Given the description of an element on the screen output the (x, y) to click on. 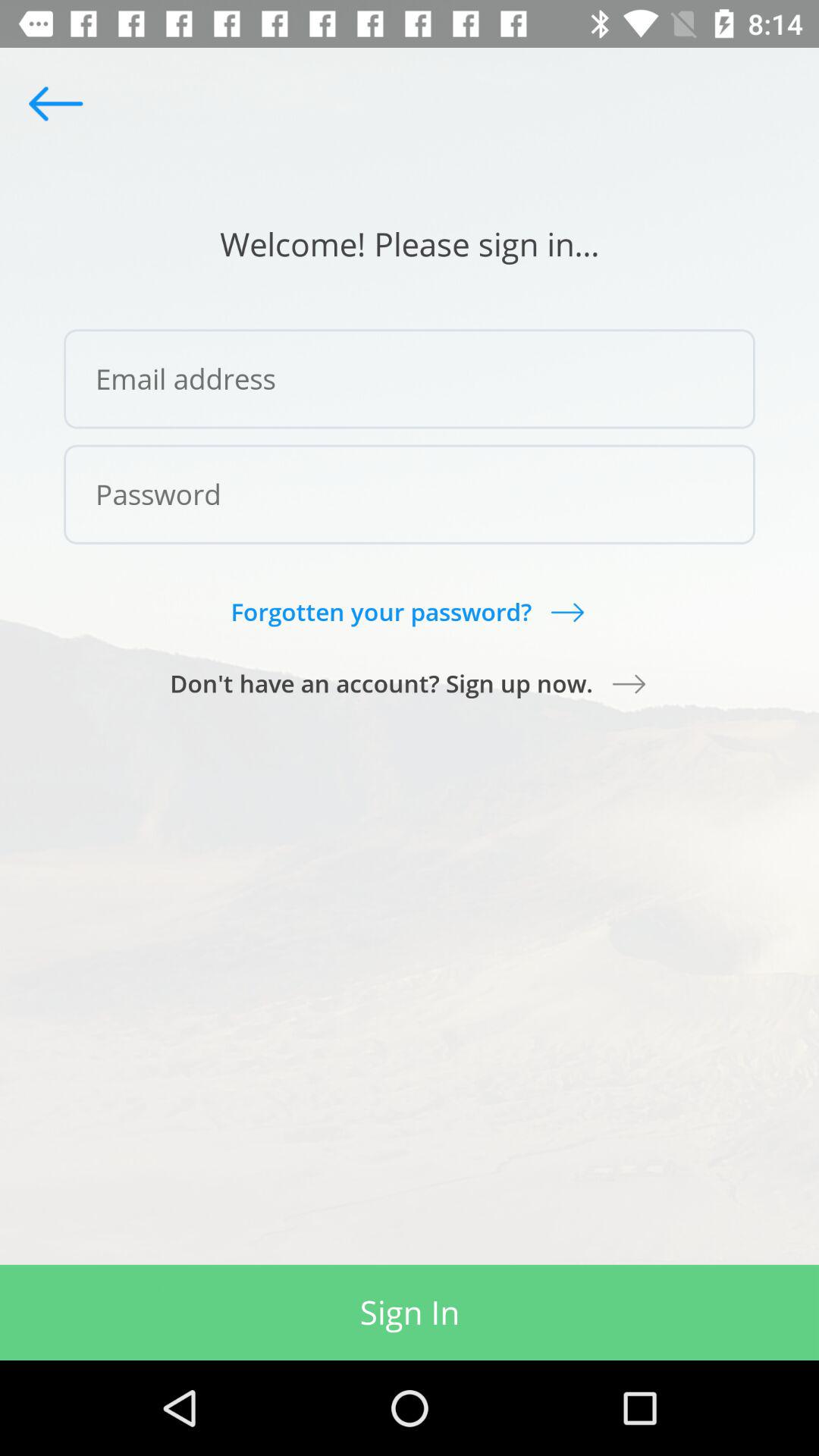
jump until don t have (409, 683)
